Given the description of an element on the screen output the (x, y) to click on. 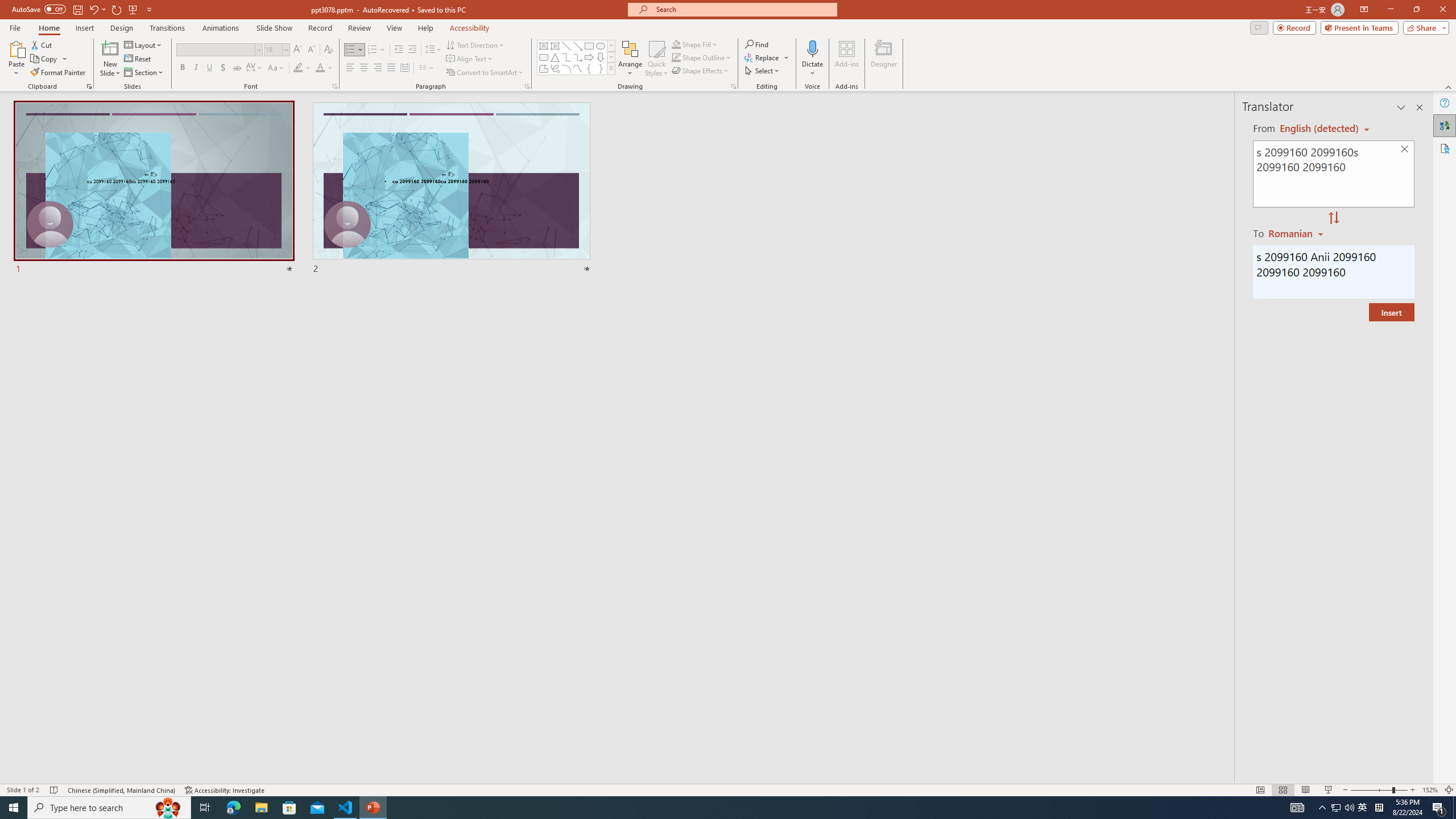
Zoom 152% (1430, 790)
